Given the description of an element on the screen output the (x, y) to click on. 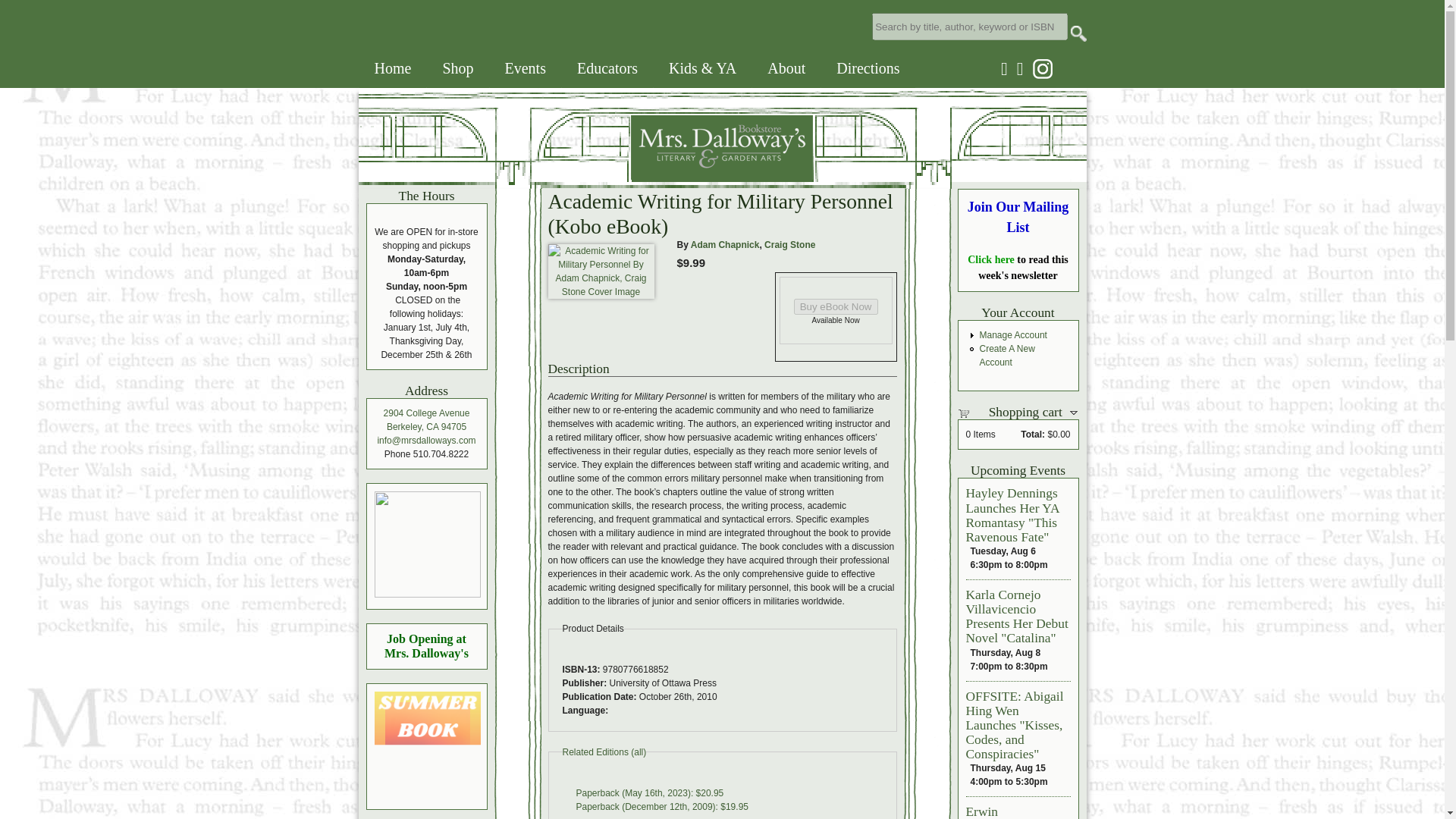
Educators (607, 68)
Adam Chapnick (725, 244)
Shop (456, 68)
Buy eBook Now (835, 306)
Skip to navigation (21, 0)
About (786, 68)
Home (392, 68)
Events (524, 68)
Directions (867, 68)
View your shopping cart. (968, 412)
Home (585, 176)
Enter the terms you wish to search for. (969, 26)
Craig Stone (789, 244)
